Given the description of an element on the screen output the (x, y) to click on. 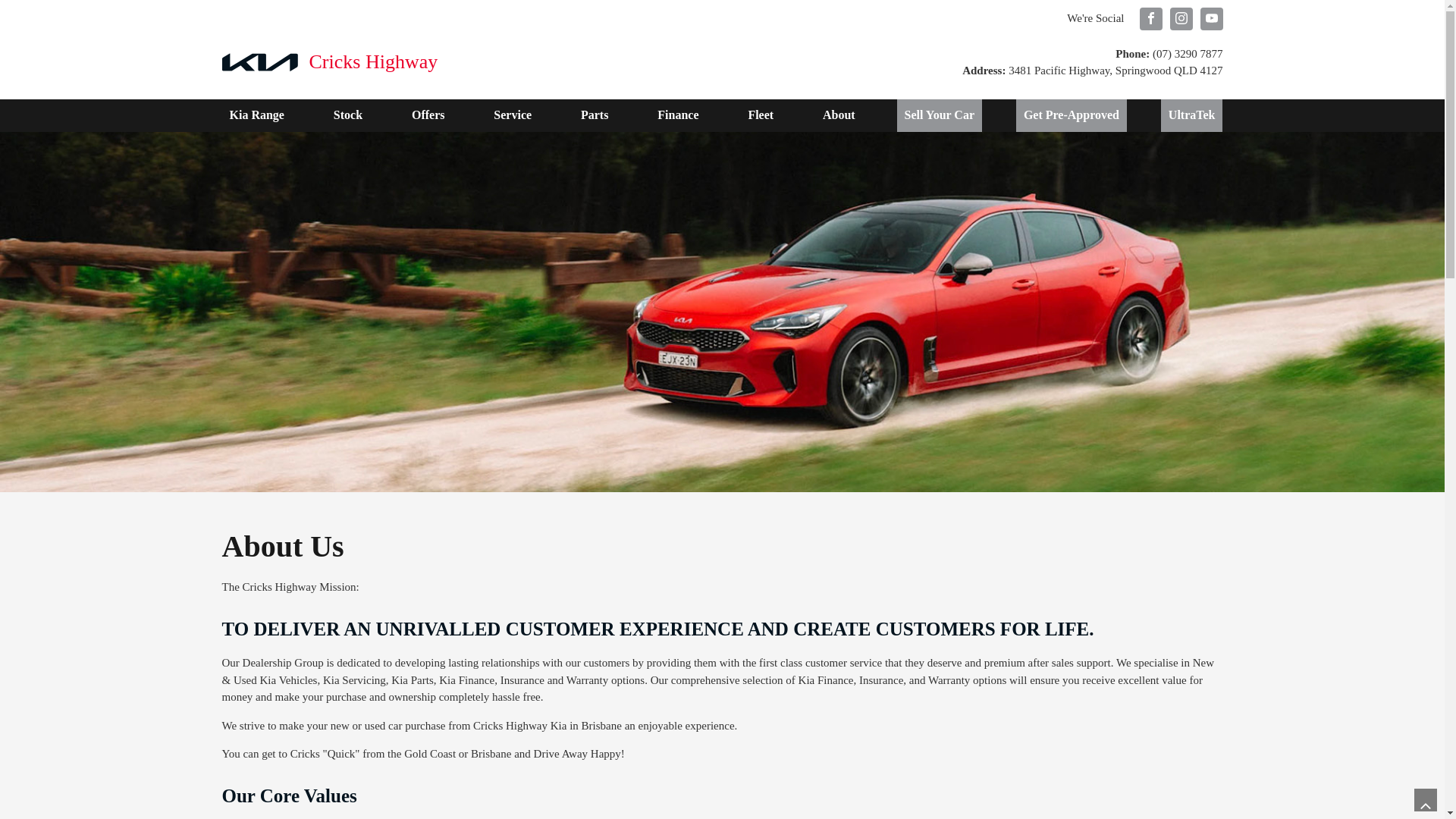
Kia Range Element type: text (256, 115)
About Element type: text (838, 115)
(07) 3290 7877 Element type: text (1185, 53)
Get Pre-Approved Element type: text (1071, 115)
3481 Pacific Highway, Springwood QLD 4127 Element type: text (1113, 70)
Service Element type: text (512, 115)
Parts Element type: text (594, 115)
UltraTek Element type: text (1192, 115)
Offers Element type: text (428, 115)
Sell Your Car Element type: text (939, 115)
Cricks Highway Element type: text (329, 61)
Fleet Element type: text (760, 115)
Finance Element type: text (677, 115)
Stock Element type: text (348, 115)
